Given the description of an element on the screen output the (x, y) to click on. 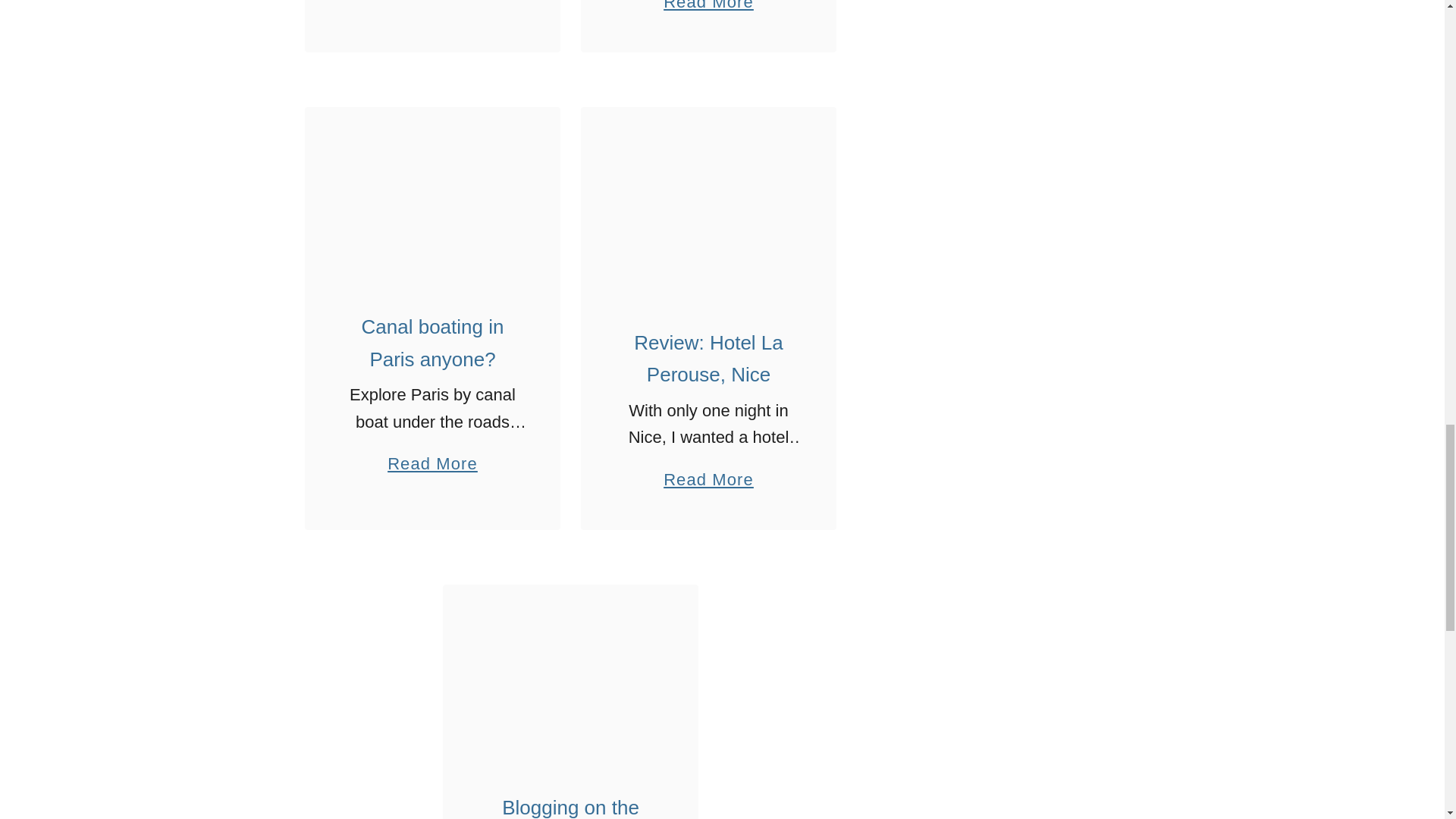
Canal boating in Paris anyone? (432, 199)
Review: Hotel La Perouse, Nice (708, 207)
Blogging on the tracks: One day in Strasbourg (570, 678)
